Given the description of an element on the screen output the (x, y) to click on. 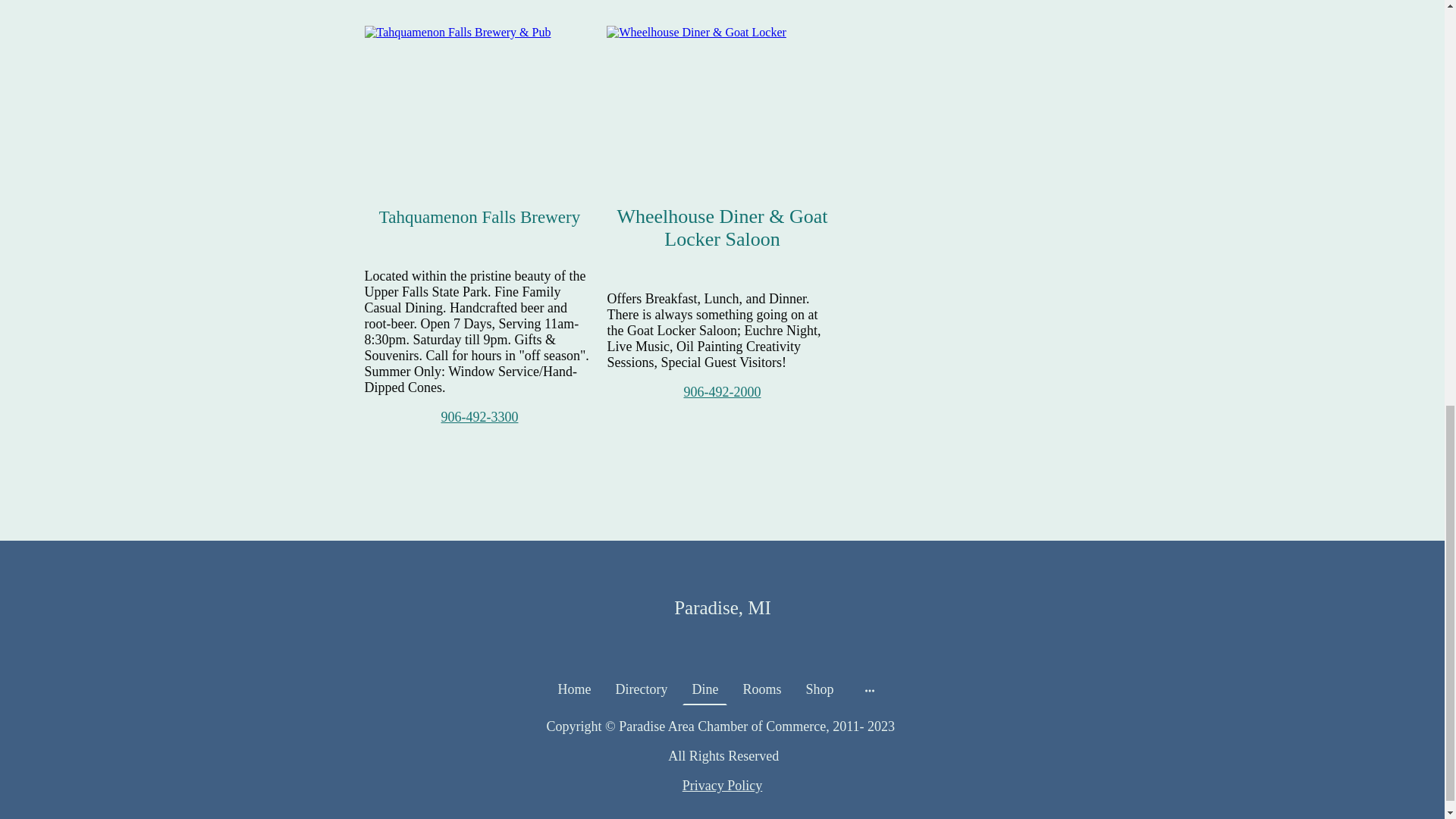
Dine (704, 689)
Privacy Policy (722, 785)
Paradise, MI (721, 606)
Rooms (762, 689)
Home (574, 689)
Directory (641, 689)
Shop (819, 689)
Paradise, MI (721, 642)
Tahquamenon Falls Brewery (479, 32)
906-492-2000 (721, 391)
